Given the description of an element on the screen output the (x, y) to click on. 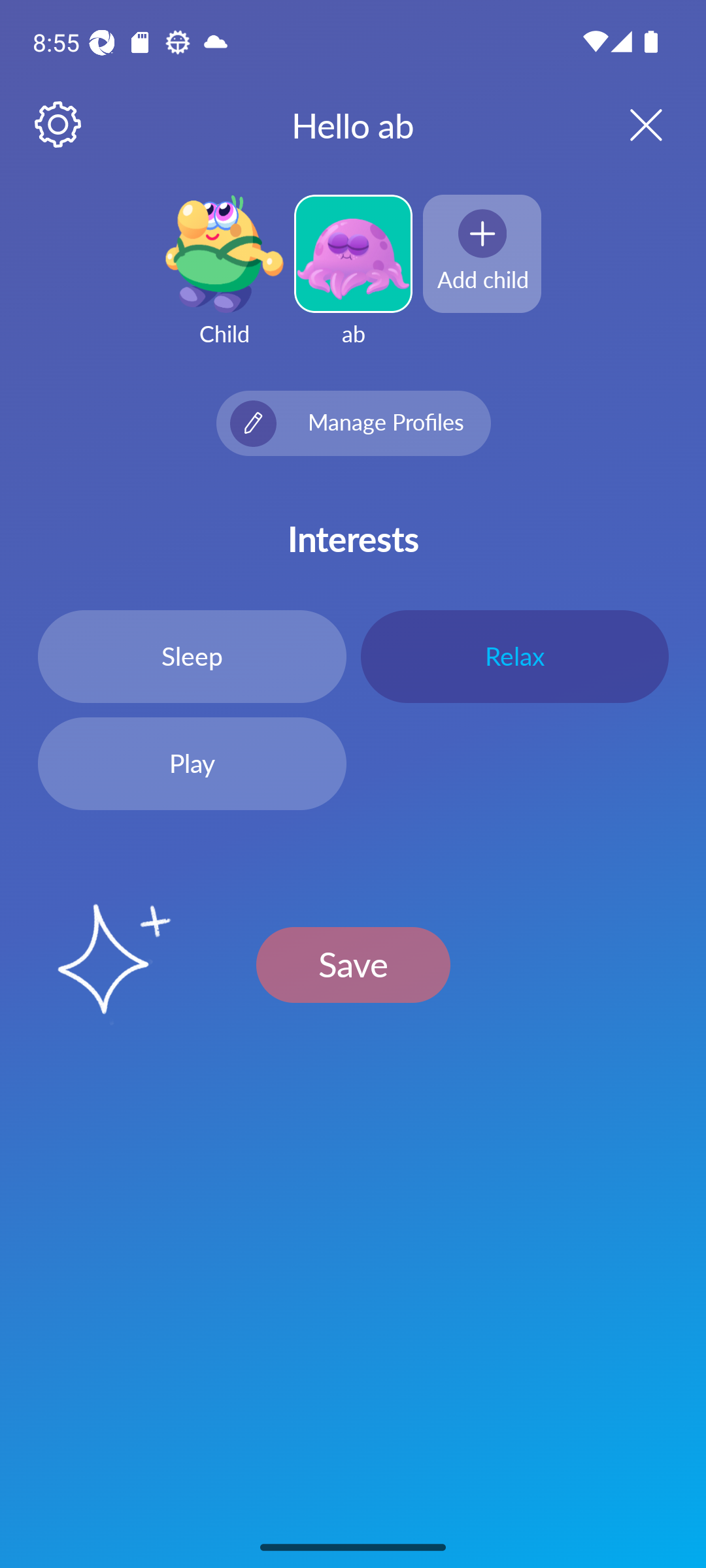
Close (629, 124)
Settings (58, 125)
Child (224, 282)
ab (353, 282)
Add child (481, 253)
icon Manage Profiles (353, 423)
Sleep (192, 655)
Relax (514, 655)
Play (192, 764)
Save (353, 964)
